Given the description of an element on the screen output the (x, y) to click on. 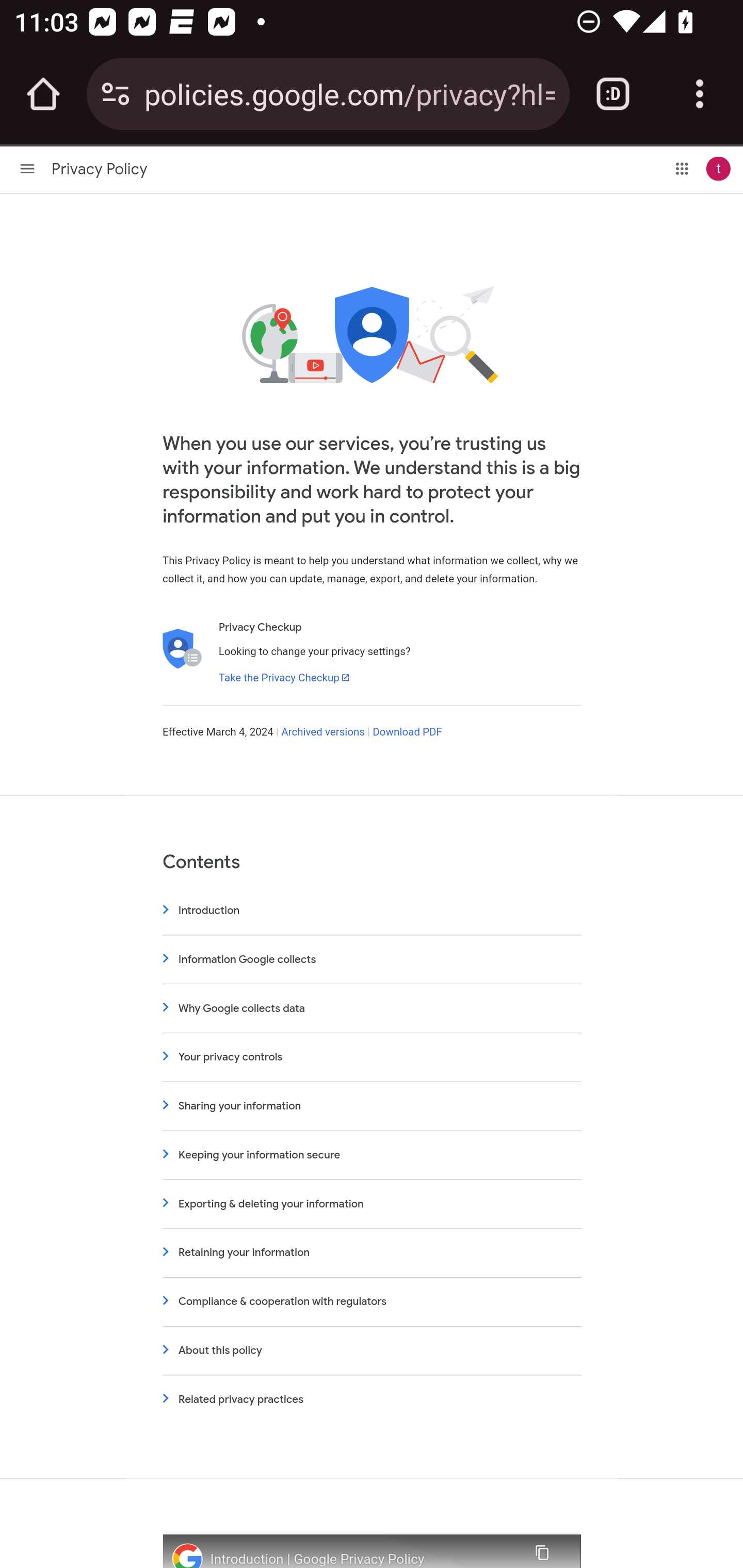
Open the home page (43, 93)
Connection is secure (115, 93)
Switch or close tabs (612, 93)
Customize and control Google Chrome (699, 93)
policies.google.com/privacy?hl=en (349, 92)
Main menu (27, 168)
Google apps (681, 168)
Take the Privacy Checkup (284, 677)
Archived versions (322, 731)
Download PDF (407, 731)
Introduction (371, 909)
Information Google collects (371, 958)
Why Google collects data (371, 1008)
Your privacy controls (371, 1056)
Sharing your information (371, 1105)
Keeping your information secure (371, 1154)
Exporting & deleting your information (371, 1204)
Retaining your information (371, 1251)
Compliance & cooperation with regulators (371, 1301)
About this policy (371, 1350)
Related privacy practices (371, 1399)
Copy link (541, 1550)
Photo image of Google (186, 1555)
Introduction | Google Privacy Policy (360, 1558)
